Given the description of an element on the screen output the (x, y) to click on. 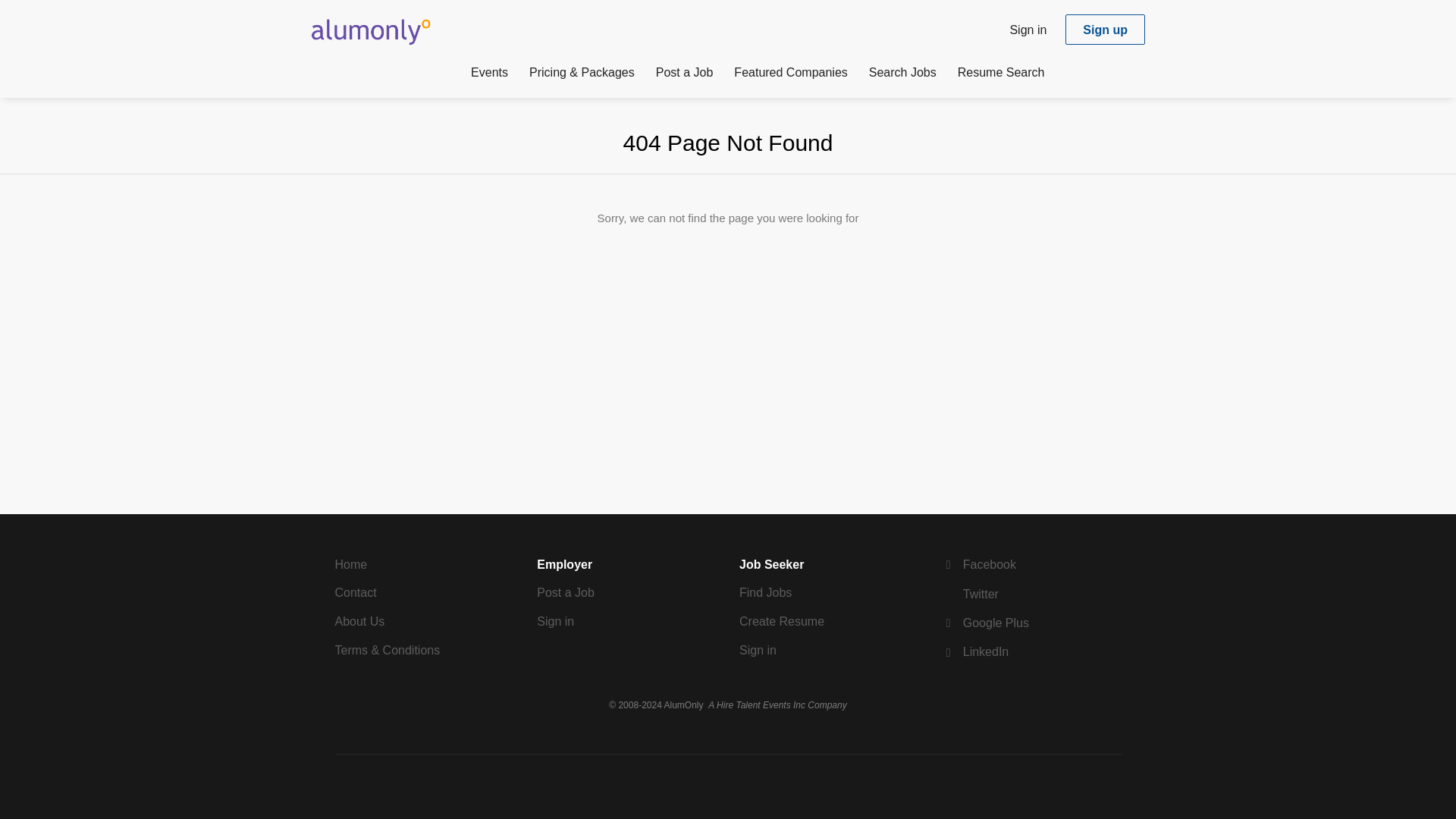
Home (351, 563)
Sign in (1027, 28)
Facebook (979, 563)
Sign up (1104, 29)
Search Jobs (902, 75)
Sign in (555, 621)
About Us (359, 621)
Post a Job (684, 75)
Featured Companies (790, 75)
Find Jobs (765, 592)
Post a Job (565, 592)
LinkedIn (975, 651)
Twitter (970, 594)
Google Plus (985, 622)
Events (489, 75)
